Given the description of an element on the screen output the (x, y) to click on. 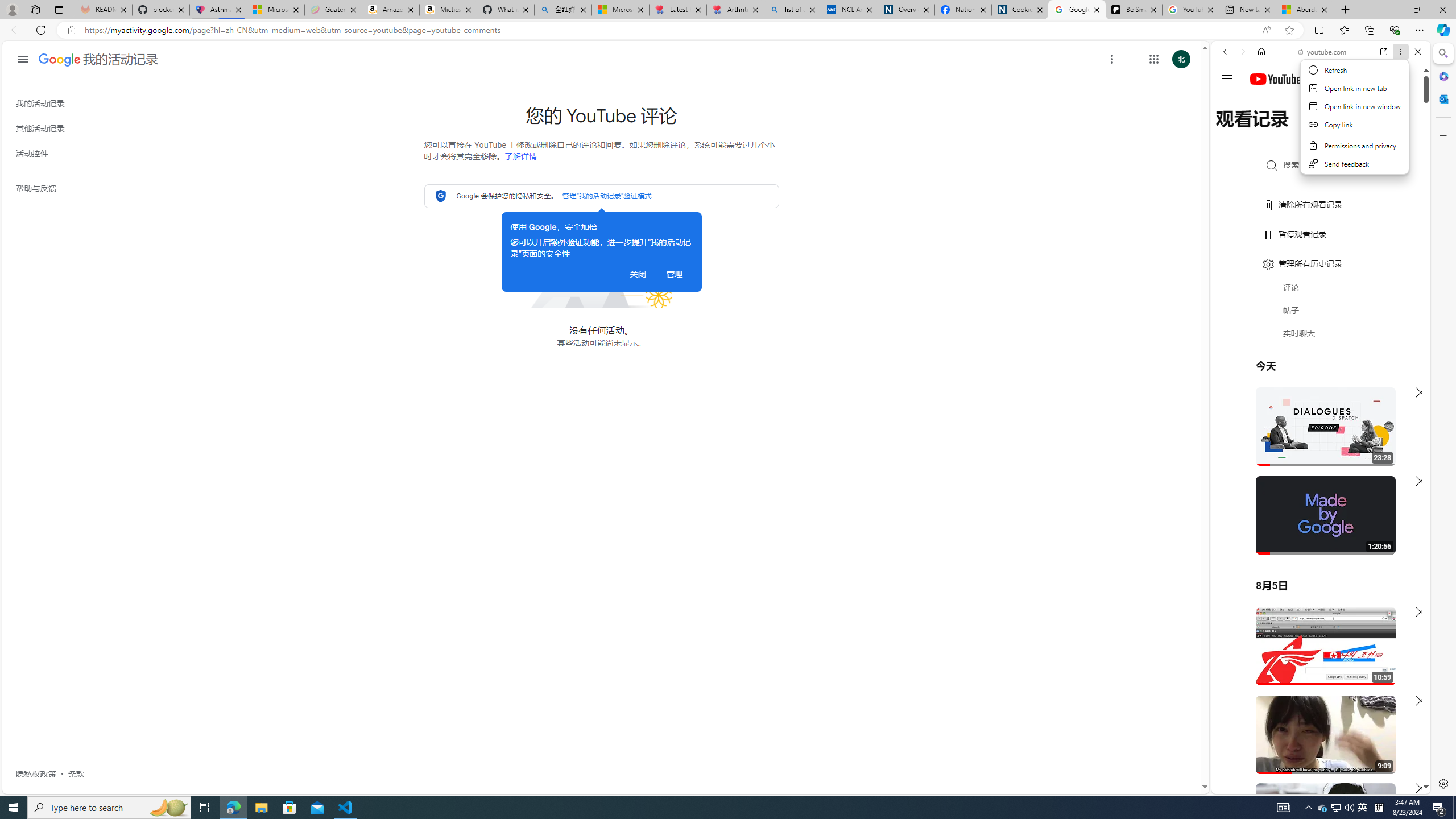
#you (1315, 659)
WEB   (1230, 130)
YouTube (1315, 655)
Class: b_serphb (1404, 130)
Click to scroll right (1407, 456)
